Given the description of an element on the screen output the (x, y) to click on. 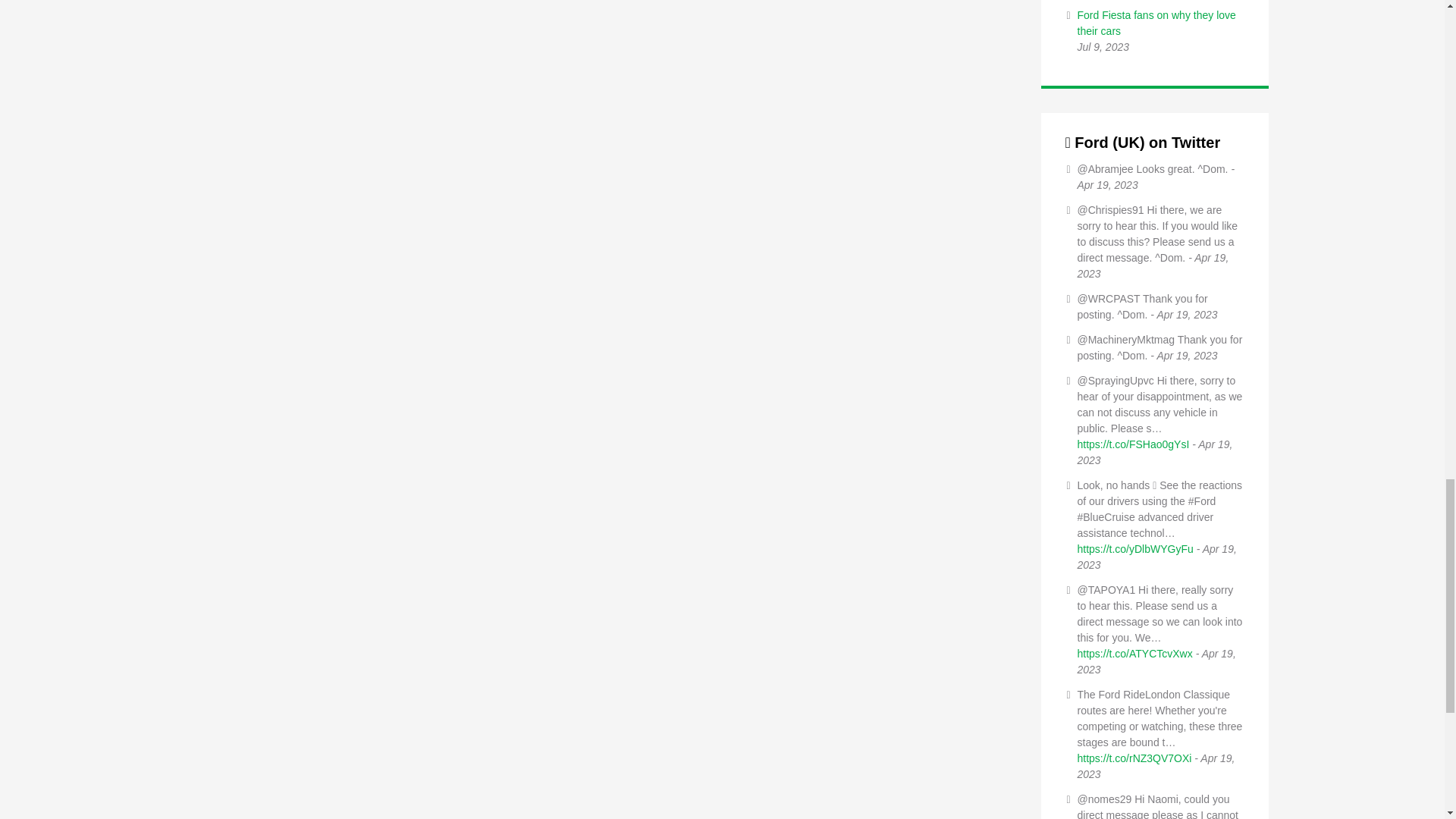
Ford Fiesta fans on why they love their cars (1155, 22)
